Given the description of an element on the screen output the (x, y) to click on. 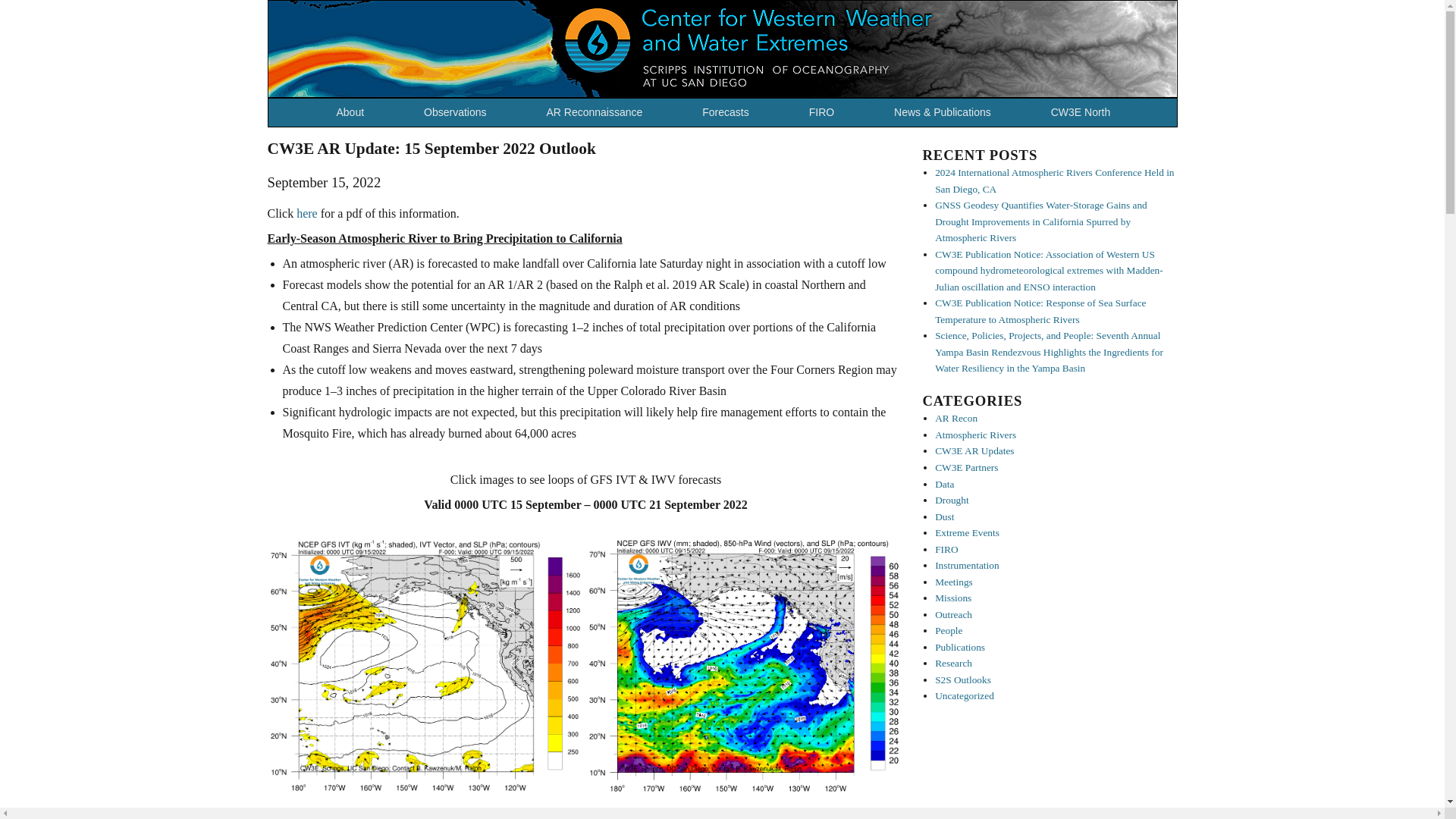
Observations (461, 112)
Forecasts (731, 112)
AR Reconnaissance (599, 112)
About (355, 112)
